Given the description of an element on the screen output the (x, y) to click on. 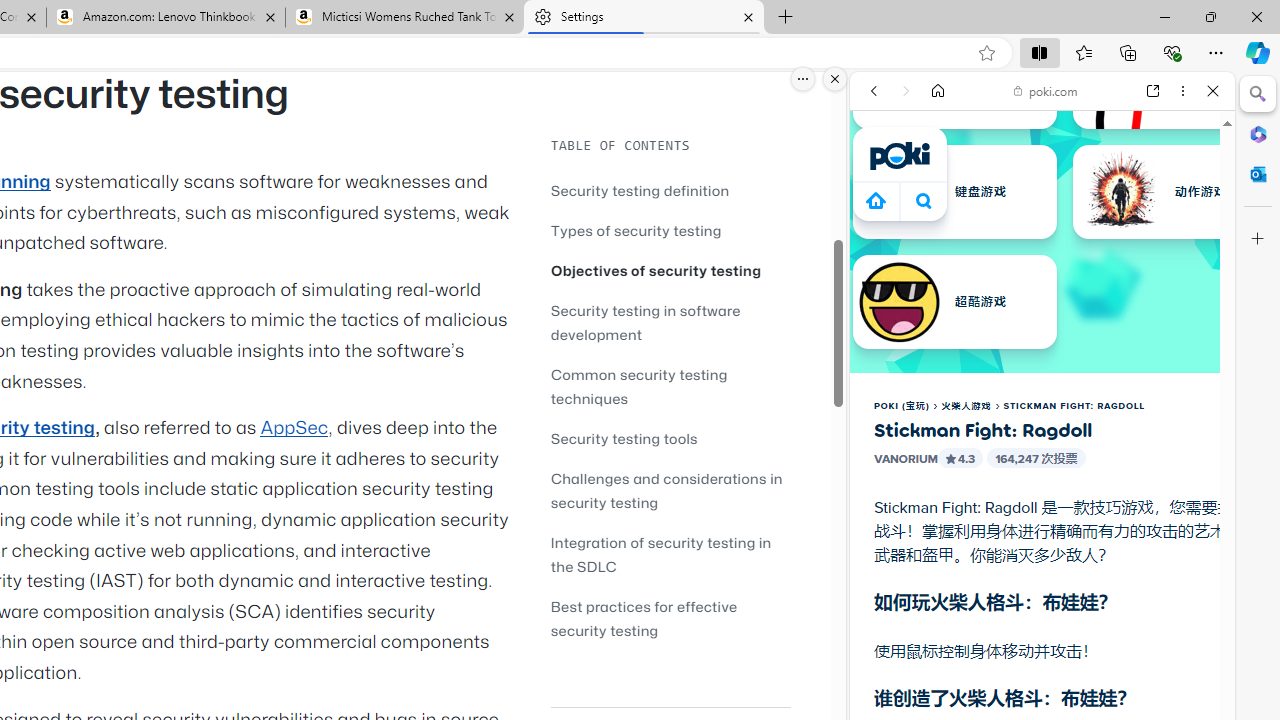
Objectives of security testing (655, 270)
Search Filter, IMAGES (939, 228)
Show More Two Player Games (1164, 570)
More options. (803, 79)
Security testing definition (639, 190)
Security testing in software development (670, 322)
